Given the description of an element on the screen output the (x, y) to click on. 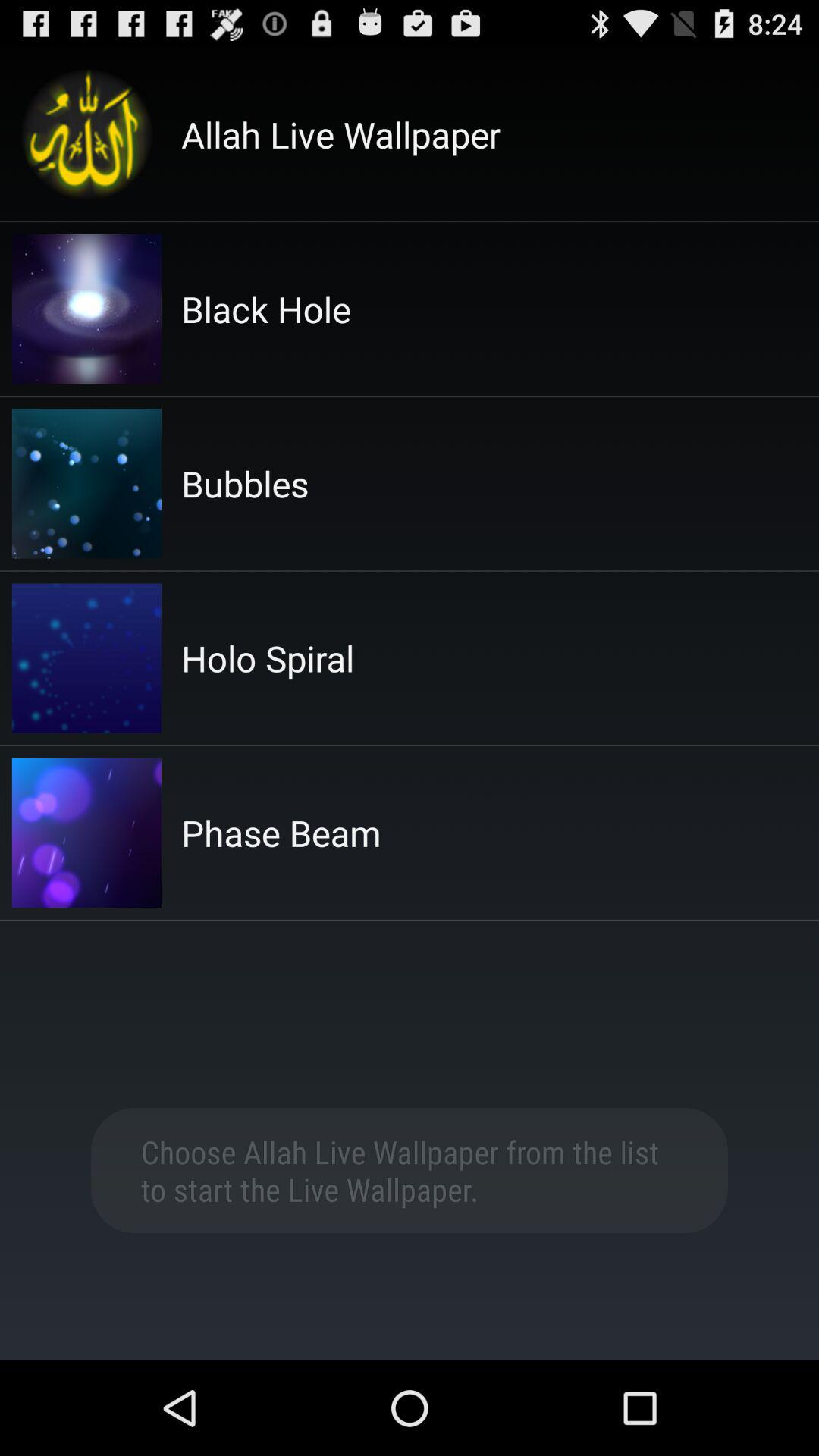
launch the phase beam item (281, 832)
